Given the description of an element on the screen output the (x, y) to click on. 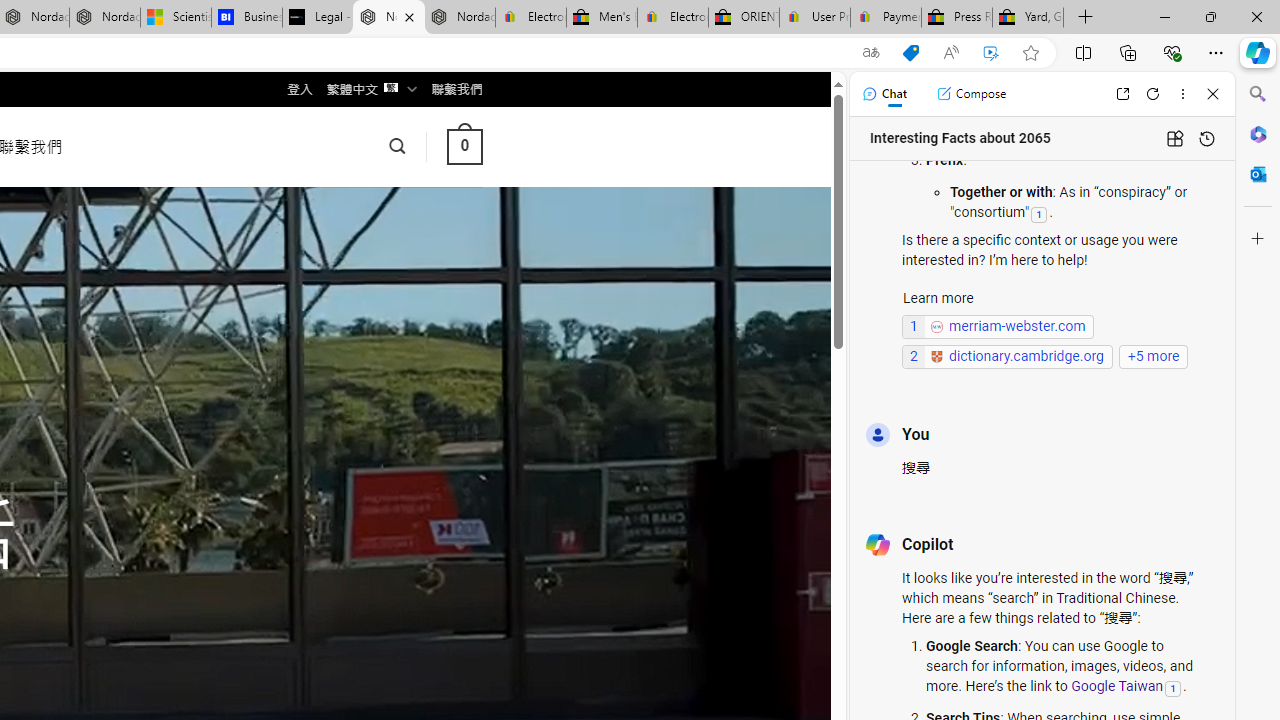
Press Room - eBay Inc. (956, 17)
